Given the description of an element on the screen output the (x, y) to click on. 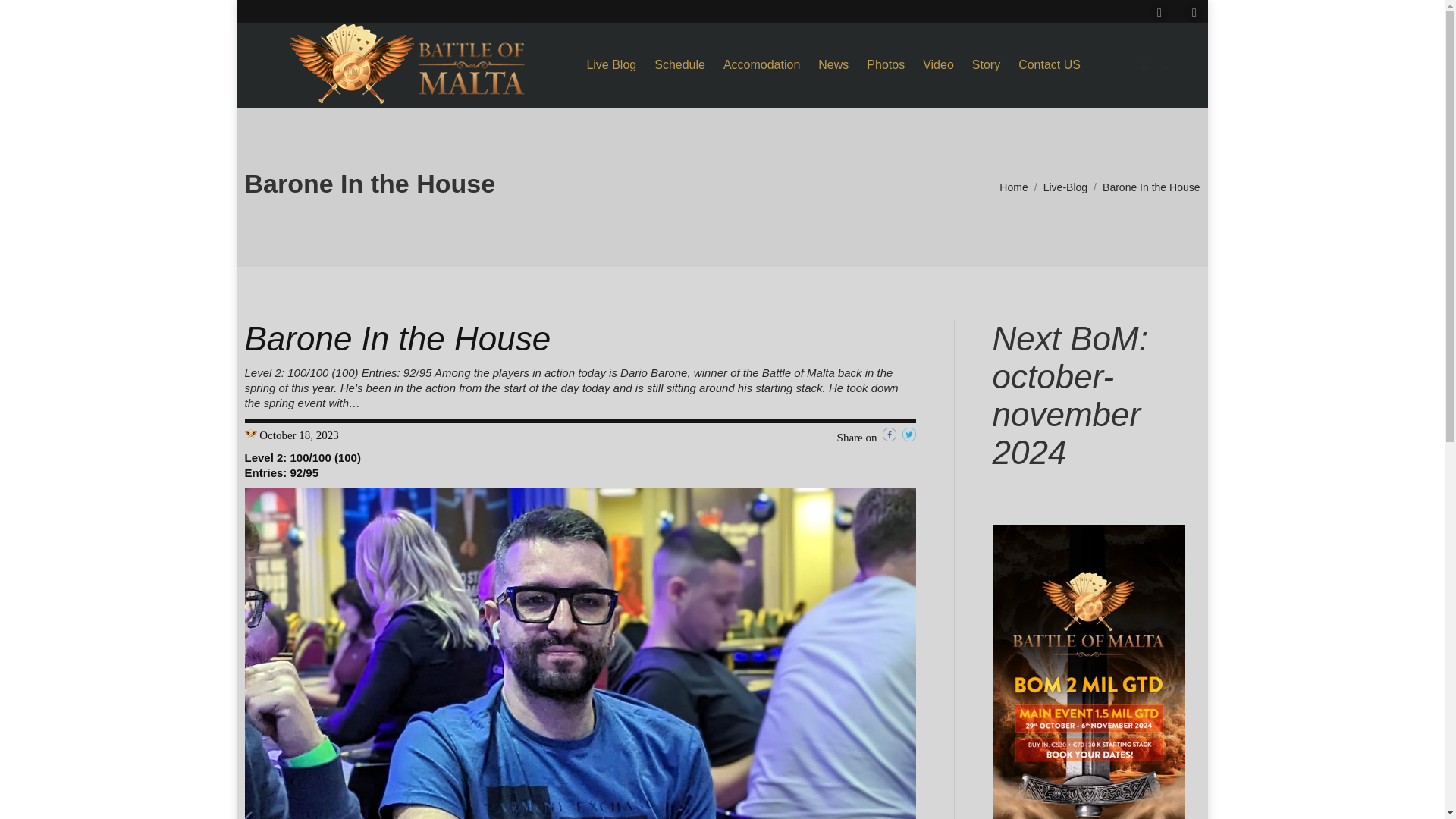
Instagram page opens in new window (1194, 12)
Accomodation (761, 65)
Instagram page opens in new window (1194, 12)
Live Blog (611, 65)
Schedule (678, 65)
Facebook page opens in new window (1159, 12)
Facebook page opens in new window (1159, 12)
